Given the description of an element on the screen output the (x, y) to click on. 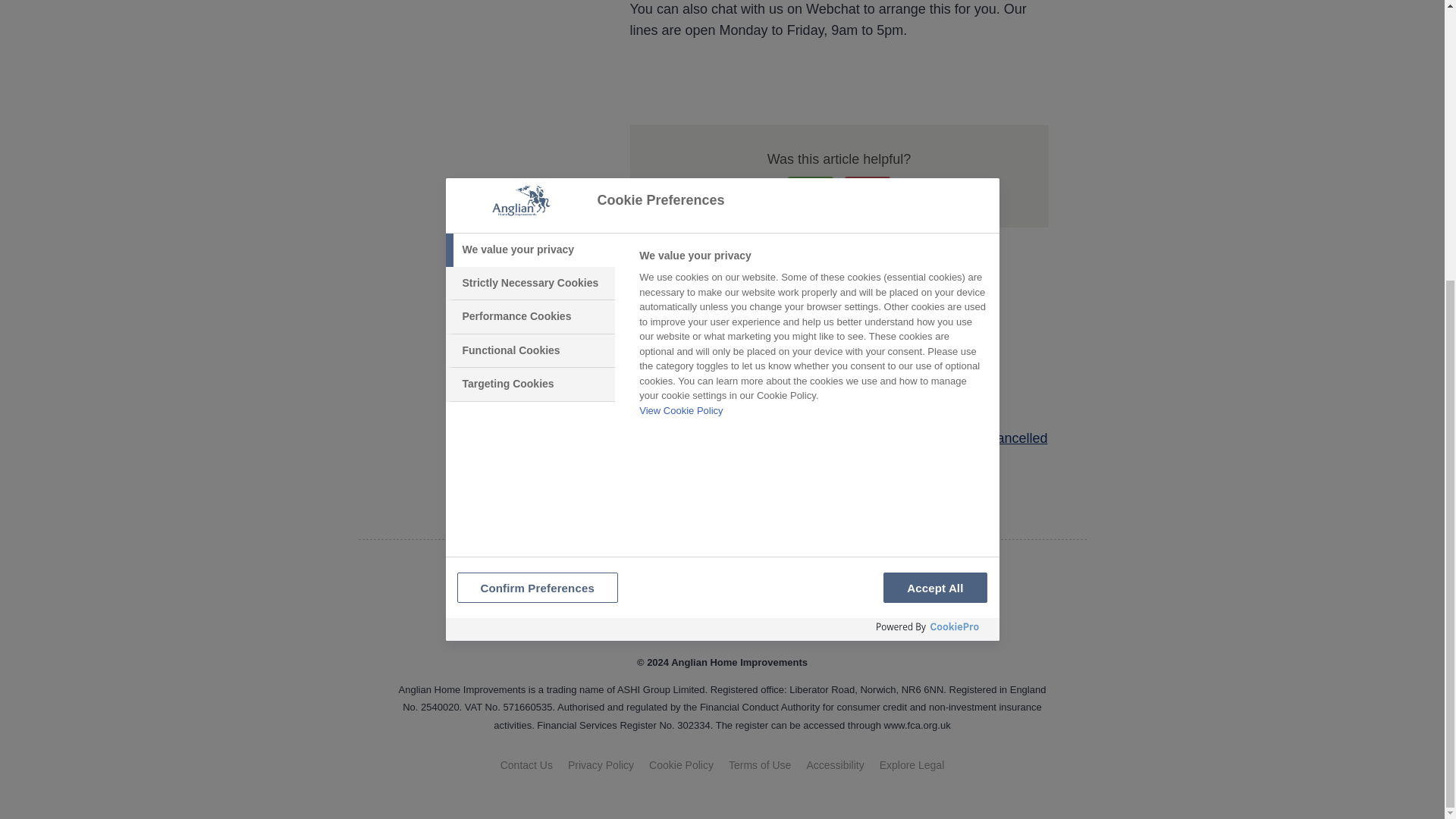
Explore Legal (911, 765)
Back to Anglian Home (722, 604)
I need to Reschedule my Service Visit (743, 382)
Accept All (935, 169)
Terms of Use (759, 765)
Contact Us (526, 765)
How Long will my In-Home Visit or Virtual Appointment Take? (813, 354)
Powered by OneTrust Opens in a new Tab (927, 209)
I need to Change my In-Home Visit or Virtual Appointment (803, 410)
Accessibility (721, 180)
Privacy Policy (834, 765)
Cookie Policy (600, 765)
Confirm Preferences (681, 765)
